Given the description of an element on the screen output the (x, y) to click on. 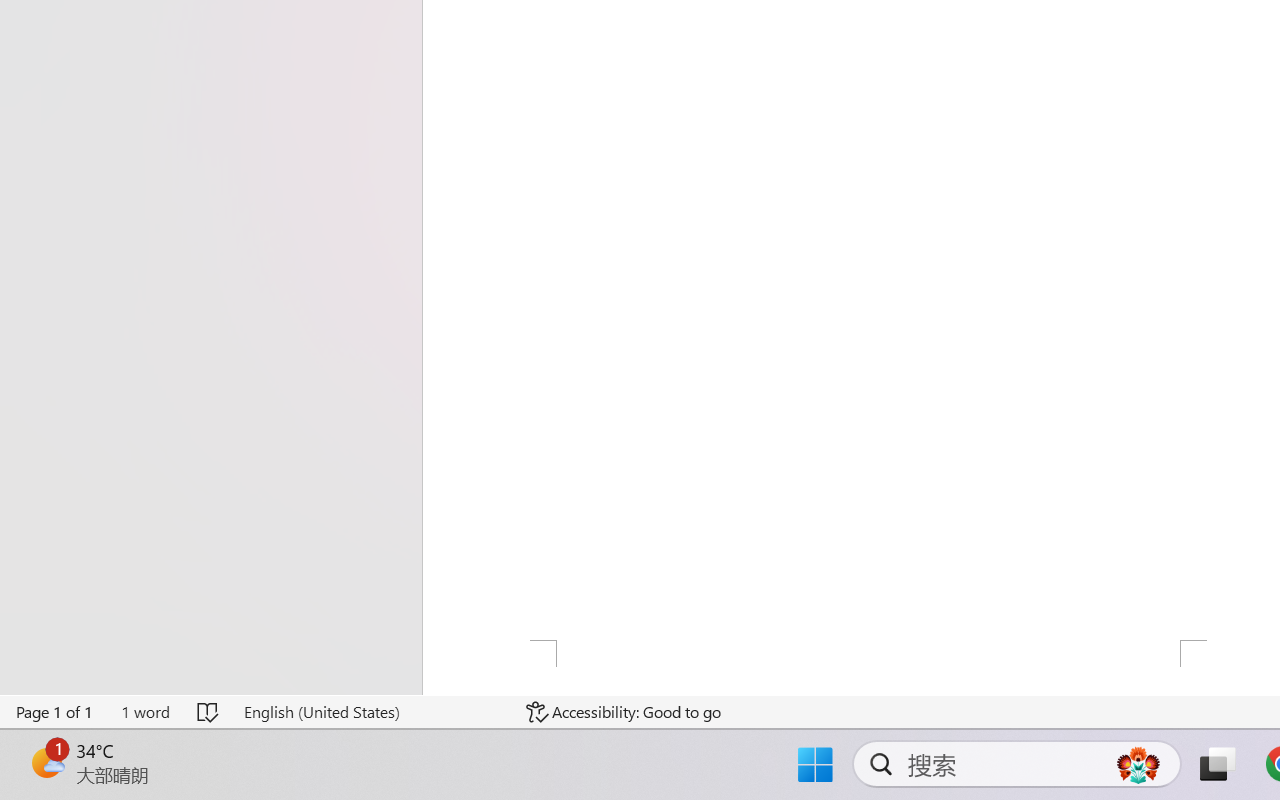
Page Number Page 1 of 1 (55, 712)
Accessibility Checker Accessibility: Good to go (623, 712)
Language English (United States) (370, 712)
Spelling and Grammar Check No Errors (208, 712)
AutomationID: DynamicSearchBoxGleamImage (1138, 764)
Word Count 1 word (145, 712)
AutomationID: BadgeAnchorLargeTicker (46, 762)
